Given the description of an element on the screen output the (x, y) to click on. 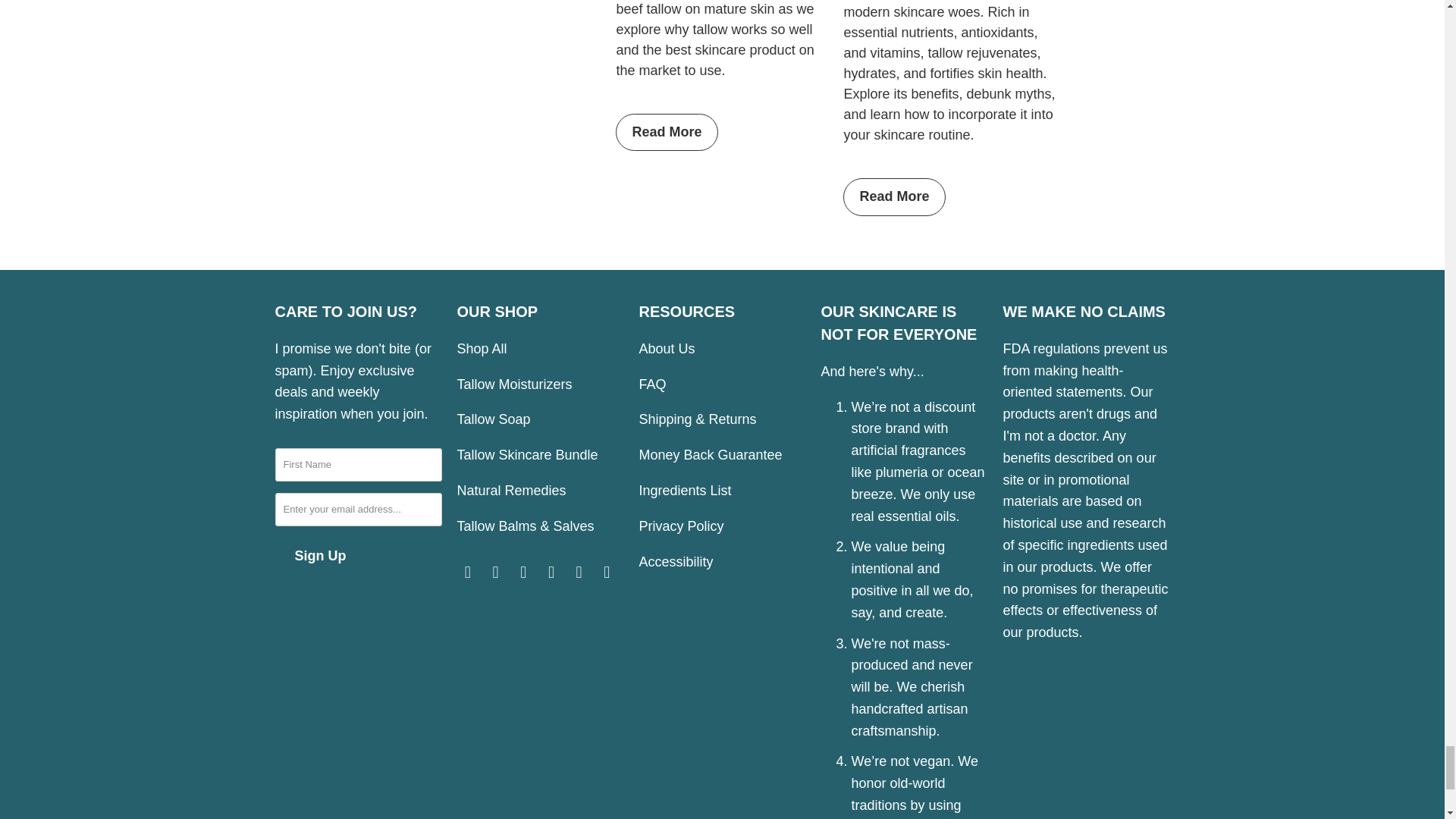
Sign Up (320, 556)
